Given the description of an element on the screen output the (x, y) to click on. 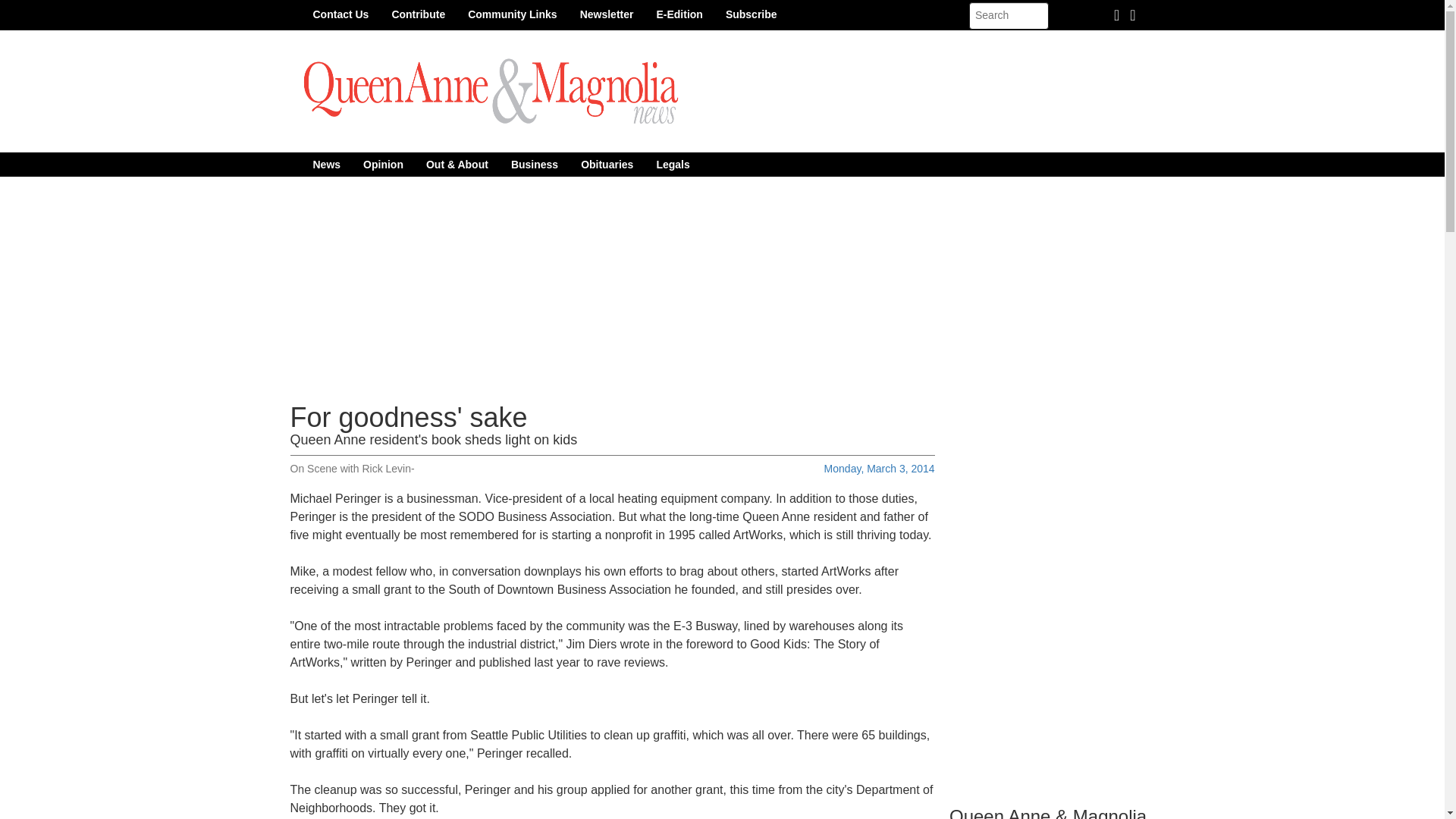
Contribute (418, 14)
Community Links (512, 14)
Newsletter (607, 14)
Obituaries (607, 164)
News (326, 164)
Monday, March 3, 2014 (879, 468)
Business (534, 164)
E-Edition (679, 14)
Opinion (383, 164)
Subscribe (751, 14)
Contact Us (340, 14)
Legals (672, 164)
